Given the description of an element on the screen output the (x, y) to click on. 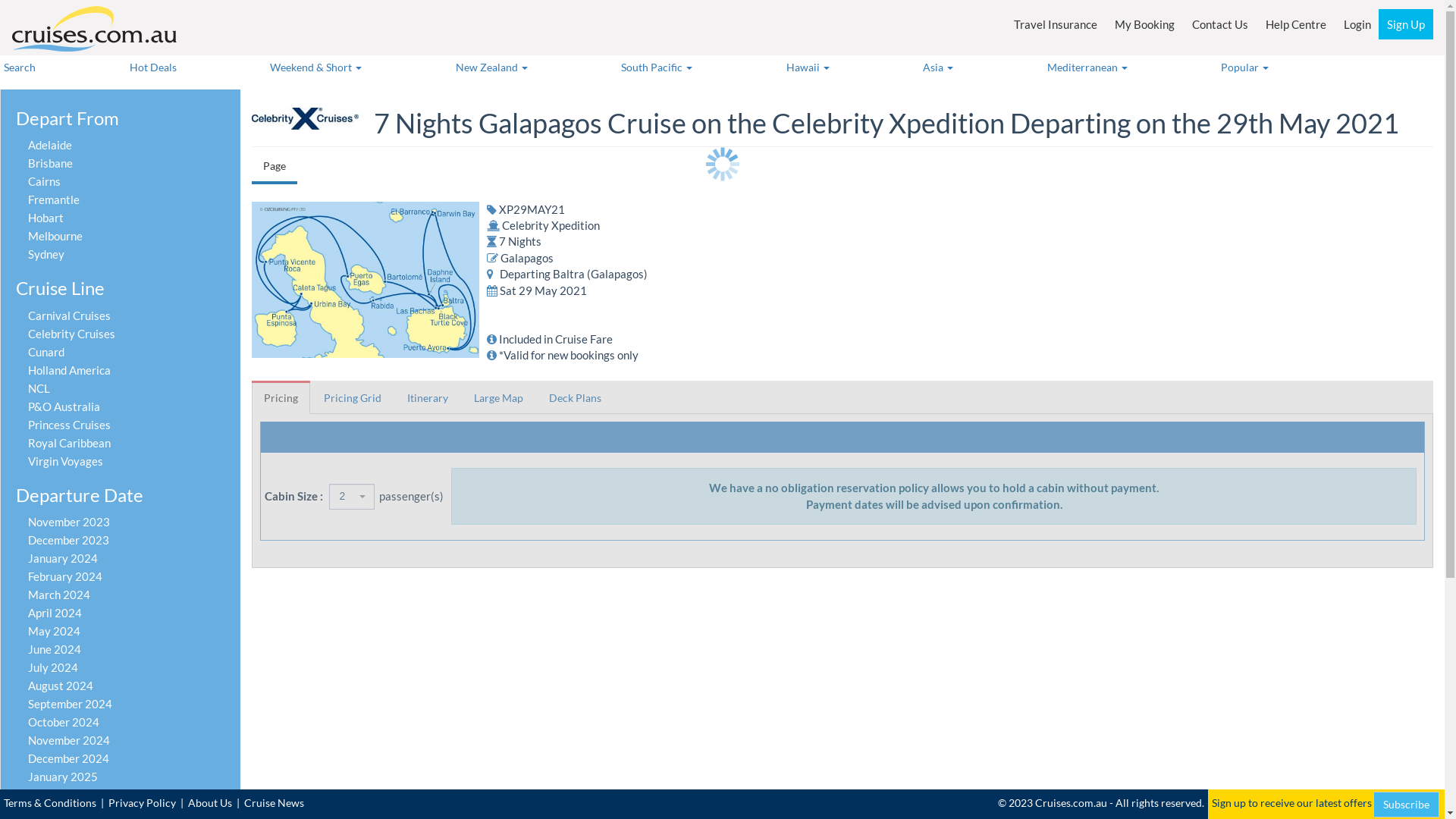
About Us Element type: text (210, 802)
Holland America Element type: text (70, 369)
Hot Deals Element type: text (152, 67)
November 2024 Element type: text (69, 740)
April 2024 Element type: text (55, 612)
May 2024 Element type: text (55, 630)
My Booking Element type: text (1144, 23)
Pricing Element type: text (280, 398)
Privacy Policy Element type: text (141, 802)
Asia Element type: text (938, 67)
Popular Element type: text (1244, 67)
Mediterranean Element type: text (1087, 67)
August 2024 Element type: text (61, 685)
Terms & Conditions Element type: text (49, 802)
Melbourne Element type: text (56, 235)
Mediterranean Element type: text (1130, 67)
Sydney Element type: text (47, 253)
New Zealand Element type: text (534, 67)
June 2024 Element type: text (55, 649)
Hawaii Element type: text (850, 67)
November 2023 Element type: text (69, 521)
P&O Australia Element type: text (65, 406)
Asia Element type: text (981, 67)
Weekend & Short Element type: text (358, 67)
Weekend & Short Element type: text (315, 67)
Fremantle Element type: text (54, 199)
South Pacific Element type: text (656, 67)
[Cruises.com.au] Element type: hover (94, 28)
Sign Up Element type: text (1405, 24)
December 2023 Element type: text (69, 539)
Contact Us Element type: text (1219, 23)
February 2025 Element type: text (66, 794)
Carnival Cruises Element type: text (70, 315)
Search Element type: text (19, 67)
Cairns Element type: text (45, 181)
Travel Insurance Element type: text (1055, 23)
February 2024 Element type: text (66, 576)
Celebrity Xpedition Galapagos - cruises.com.au Element type: hover (365, 279)
Celebrity Cruises Element type: text (72, 333)
January 2025 Element type: text (63, 776)
December 2024 Element type: text (69, 758)
Virgin Voyages Element type: text (66, 460)
July 2024 Element type: text (54, 667)
Royal Caribbean Element type: text (70, 442)
Hobart Element type: text (46, 217)
Subscribe Element type: text (1406, 804)
September 2024 Element type: text (71, 703)
March 2024 Element type: text (60, 594)
Cruise News Element type: text (274, 802)
Adelaide Element type: text (51, 144)
Help Centre Element type: text (1295, 23)
Login Element type: text (1357, 23)
Large Map Element type: text (498, 398)
Page Element type: text (274, 165)
South Pacific Element type: text (699, 67)
Princess Cruises Element type: text (70, 424)
Cunard Element type: text (47, 351)
January 2024 Element type: text (63, 558)
Deck Plans Element type: text (574, 398)
Popular Element type: text (1287, 67)
NCL Element type: text (40, 388)
Hawaii Element type: text (807, 67)
October 2024 Element type: text (64, 721)
Itinerary Element type: text (427, 398)
Pricing Grid Element type: text (352, 398)
New Zealand Element type: text (491, 67)
Brisbane Element type: text (51, 162)
